Given the description of an element on the screen output the (x, y) to click on. 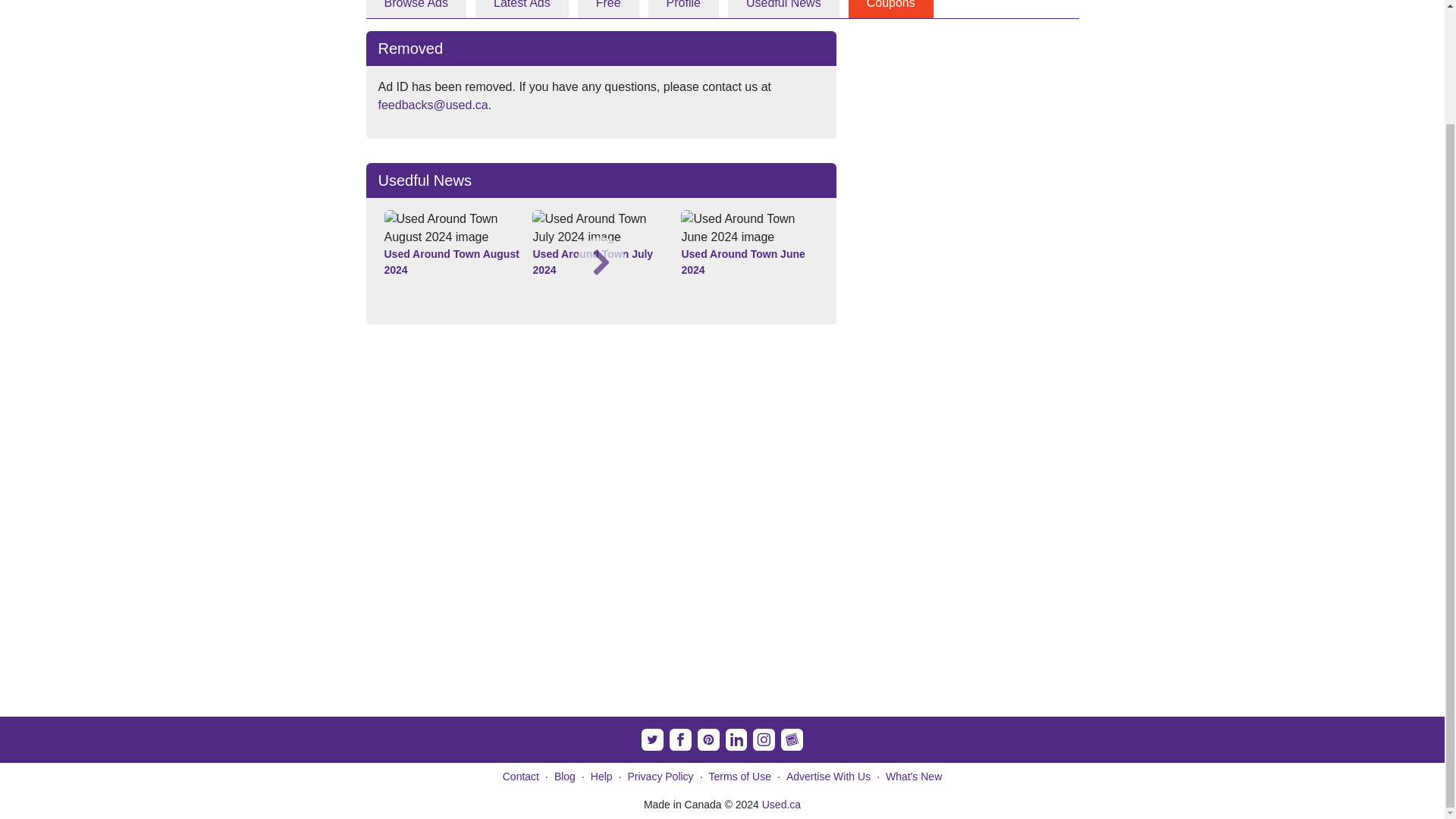
Subscribe to newsletter (791, 739)
Coupons (890, 9)
Contact (520, 776)
Advertise With Us (828, 776)
Browse Ads (415, 9)
LinkedIn (735, 739)
Help (601, 776)
Free (608, 9)
Latest Ads (522, 9)
Blog (564, 776)
Twitter (652, 739)
Blog (564, 776)
Facebook (680, 739)
Terms of Use (740, 776)
Pinterest (708, 739)
